Given the description of an element on the screen output the (x, y) to click on. 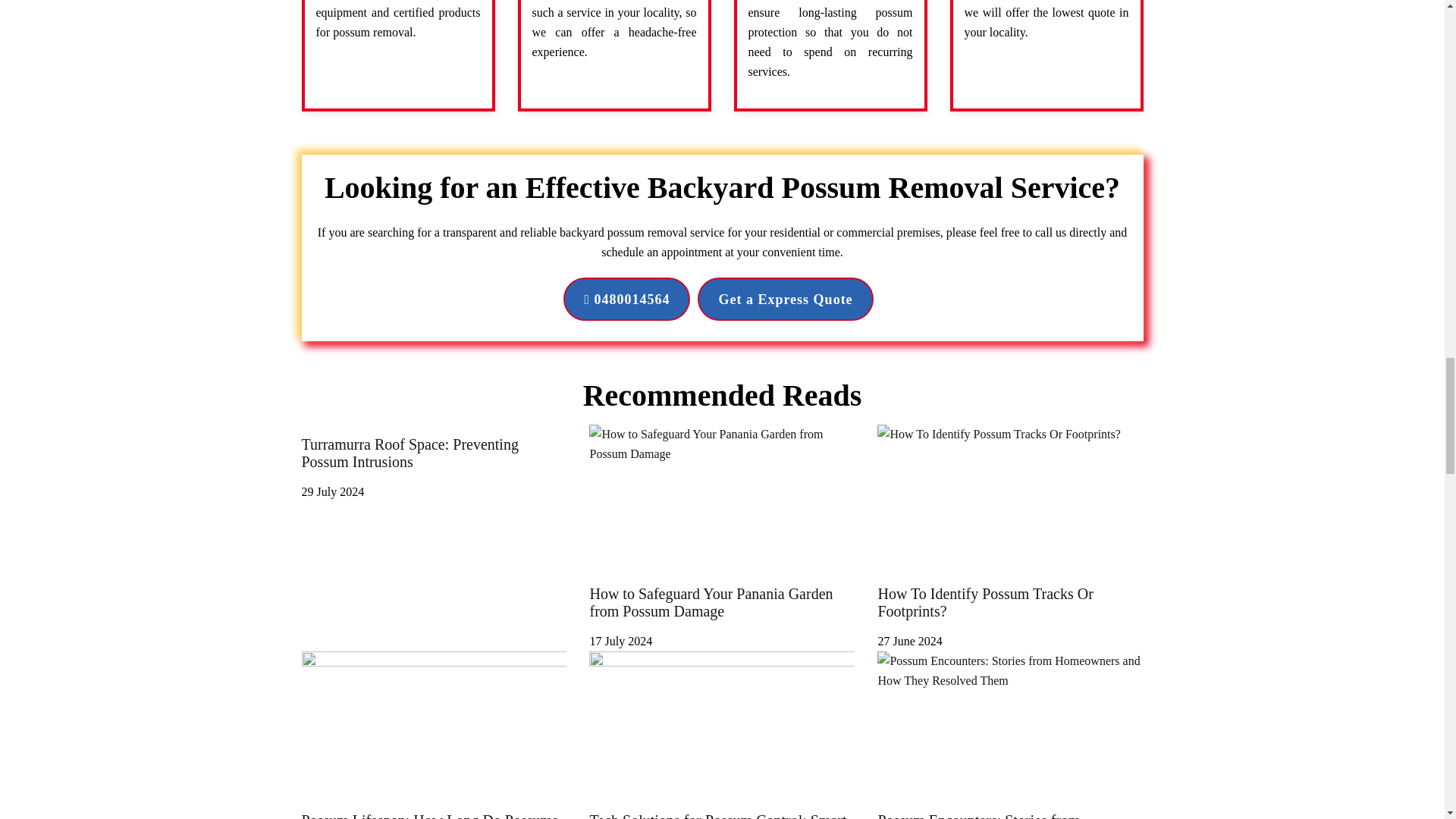
Get a Express Quote (784, 299)
Possum Lifespan: How Long Do Possums Live? (434, 809)
0480014564 (626, 299)
Turramurra Roof Space: Preventing Possum Intrusions (434, 461)
How to Safeguard Your Panania Garden from Possum Damage (721, 610)
How To Identify Possum Tracks Or Footprints? (1009, 610)
